Given the description of an element on the screen output the (x, y) to click on. 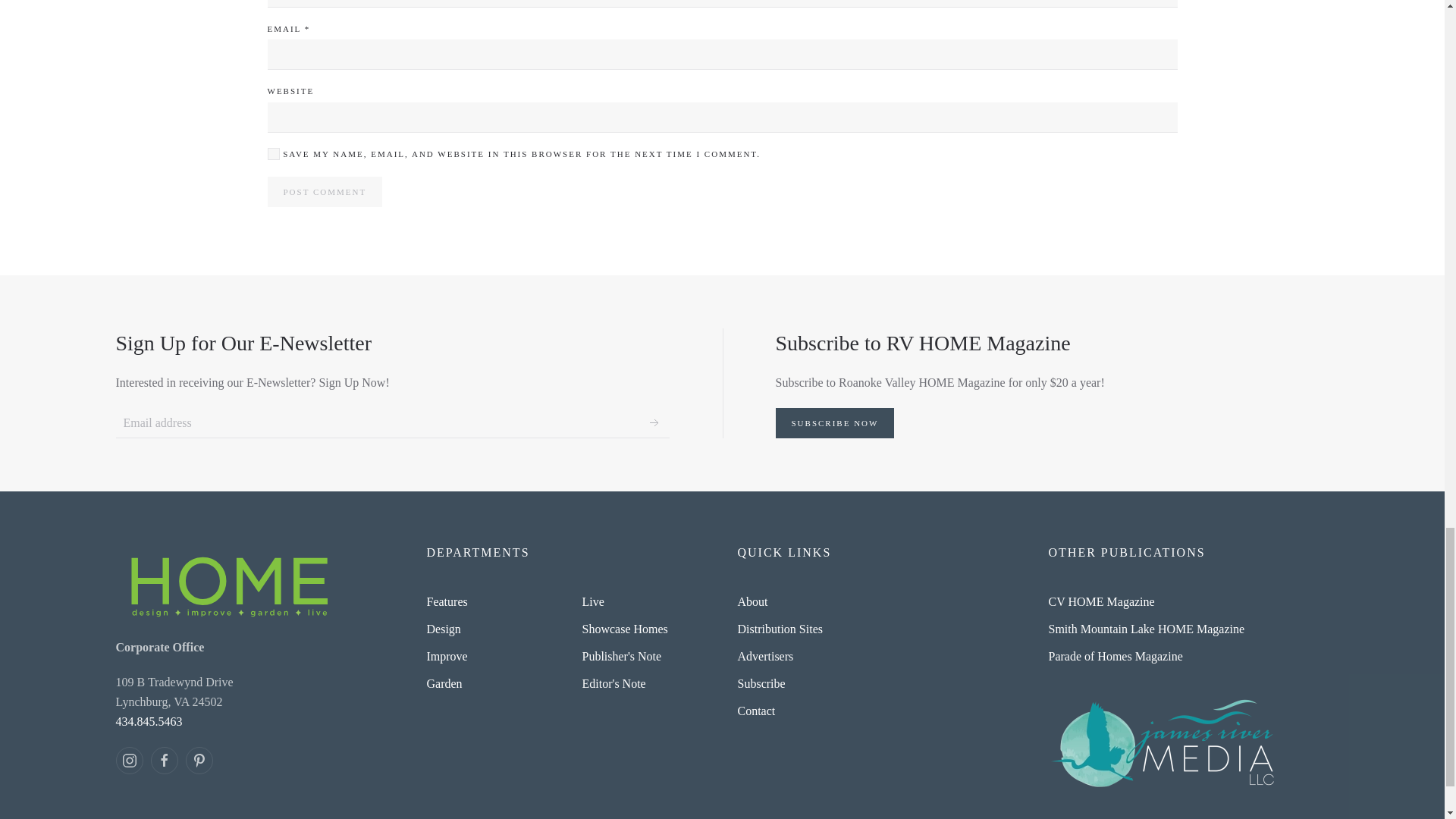
Subscribe (653, 422)
yes (272, 153)
